Given the description of an element on the screen output the (x, y) to click on. 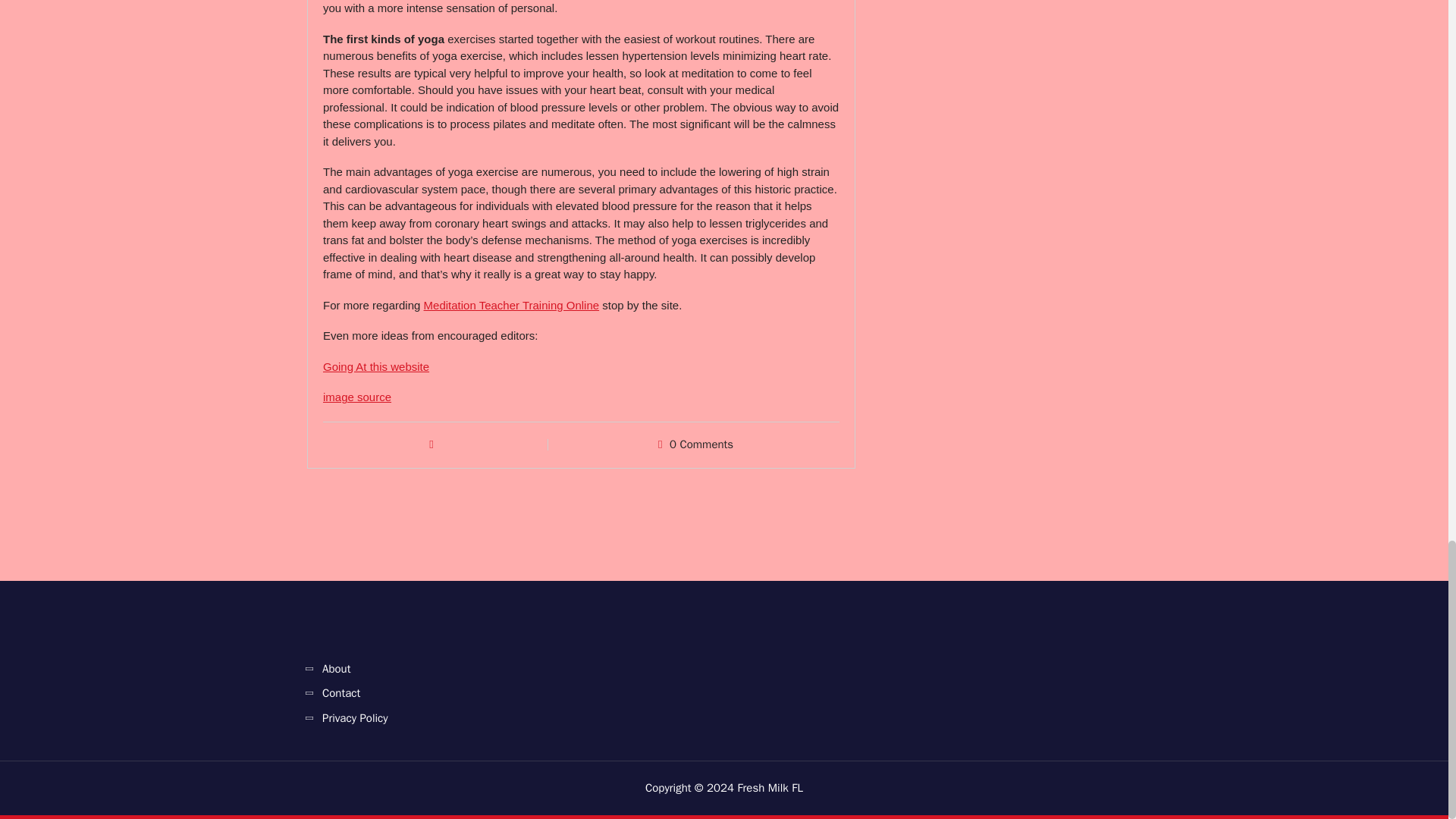
Going At this website (376, 366)
Meditation Teacher Training Online (511, 305)
0 Comments (701, 444)
image source (357, 396)
